Given the description of an element on the screen output the (x, y) to click on. 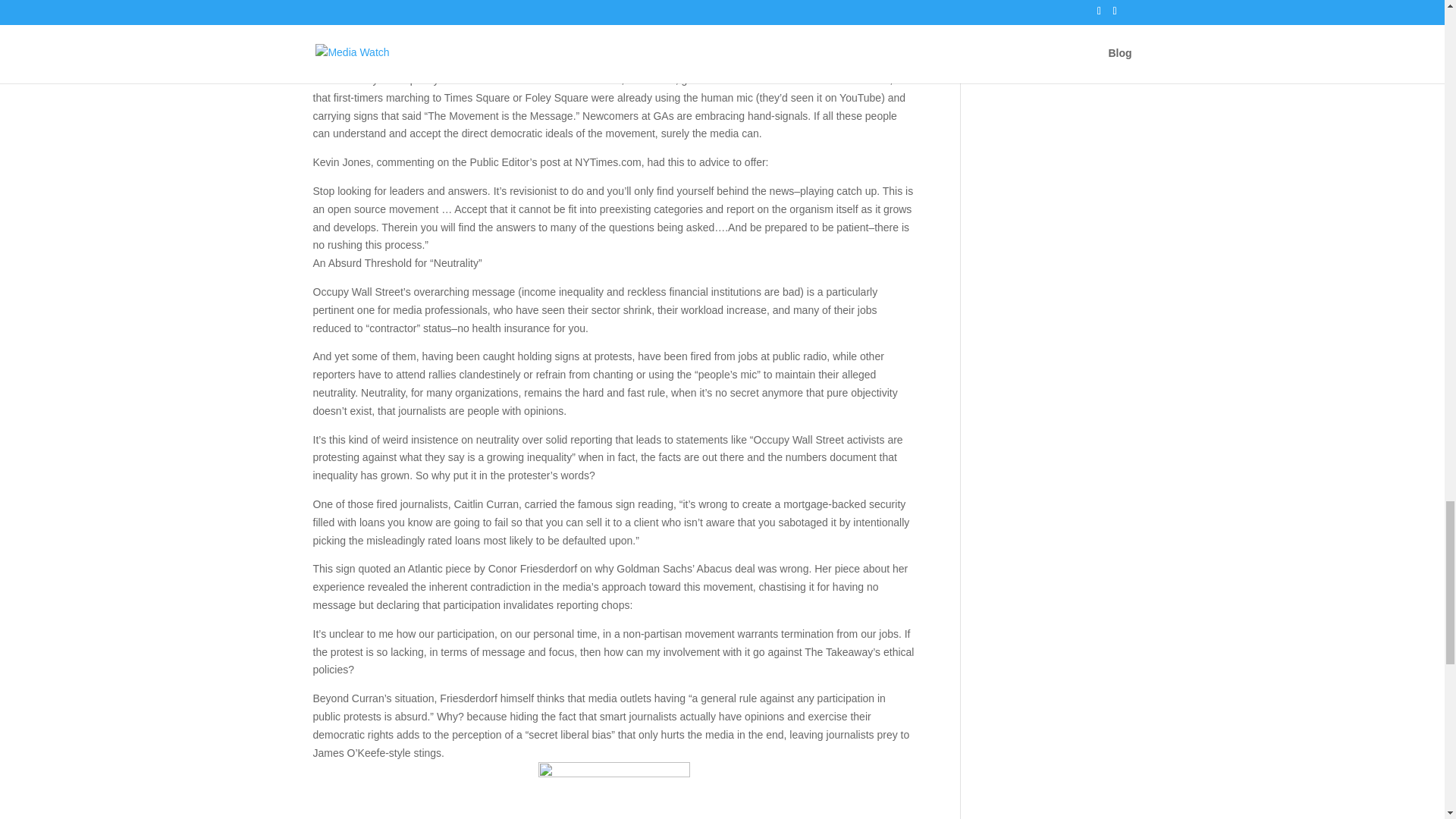
don't trust corp.media (614, 790)
